Given the description of an element on the screen output the (x, y) to click on. 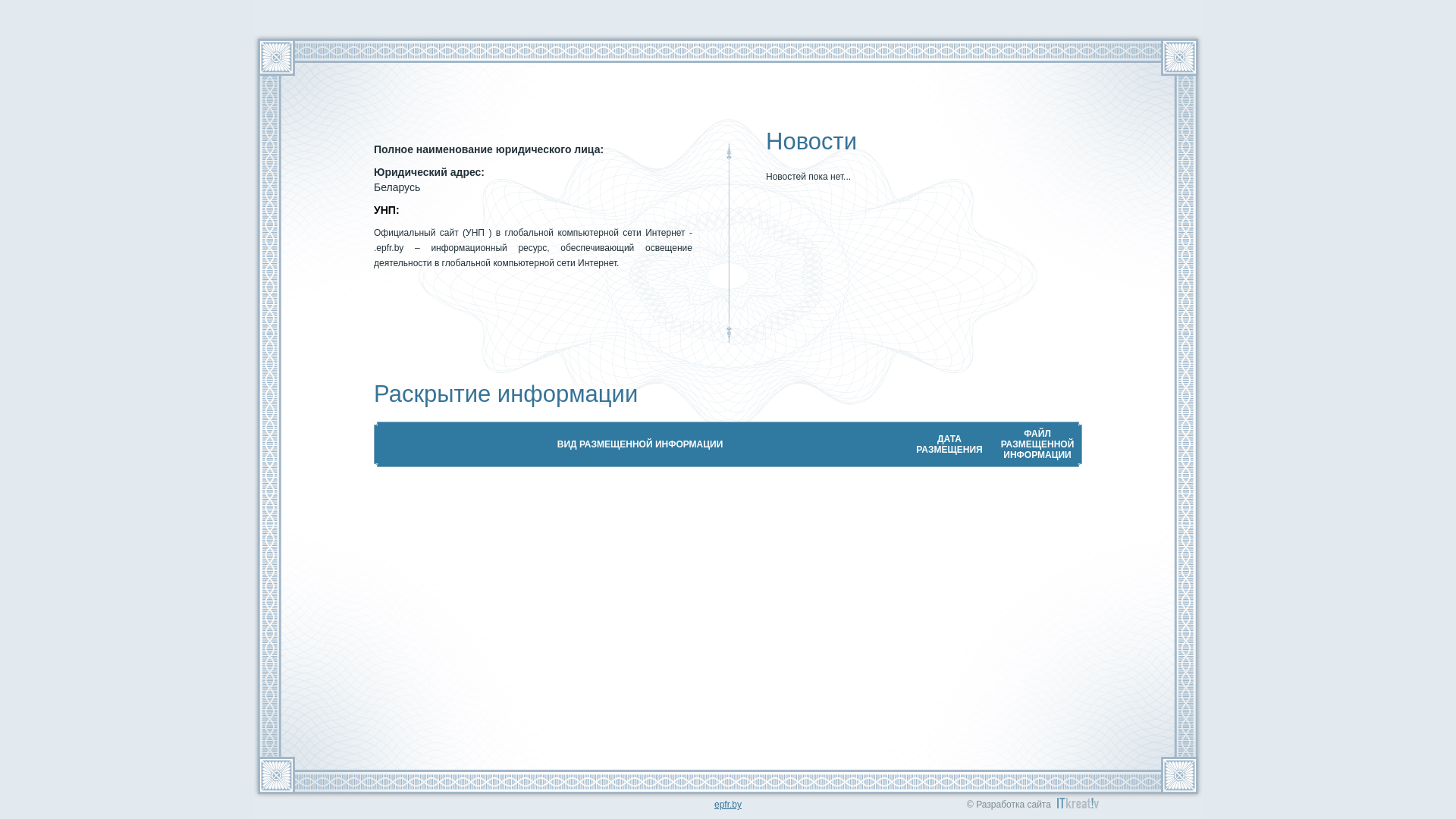
epfr.by Element type: text (727, 804)
